Given the description of an element on the screen output the (x, y) to click on. 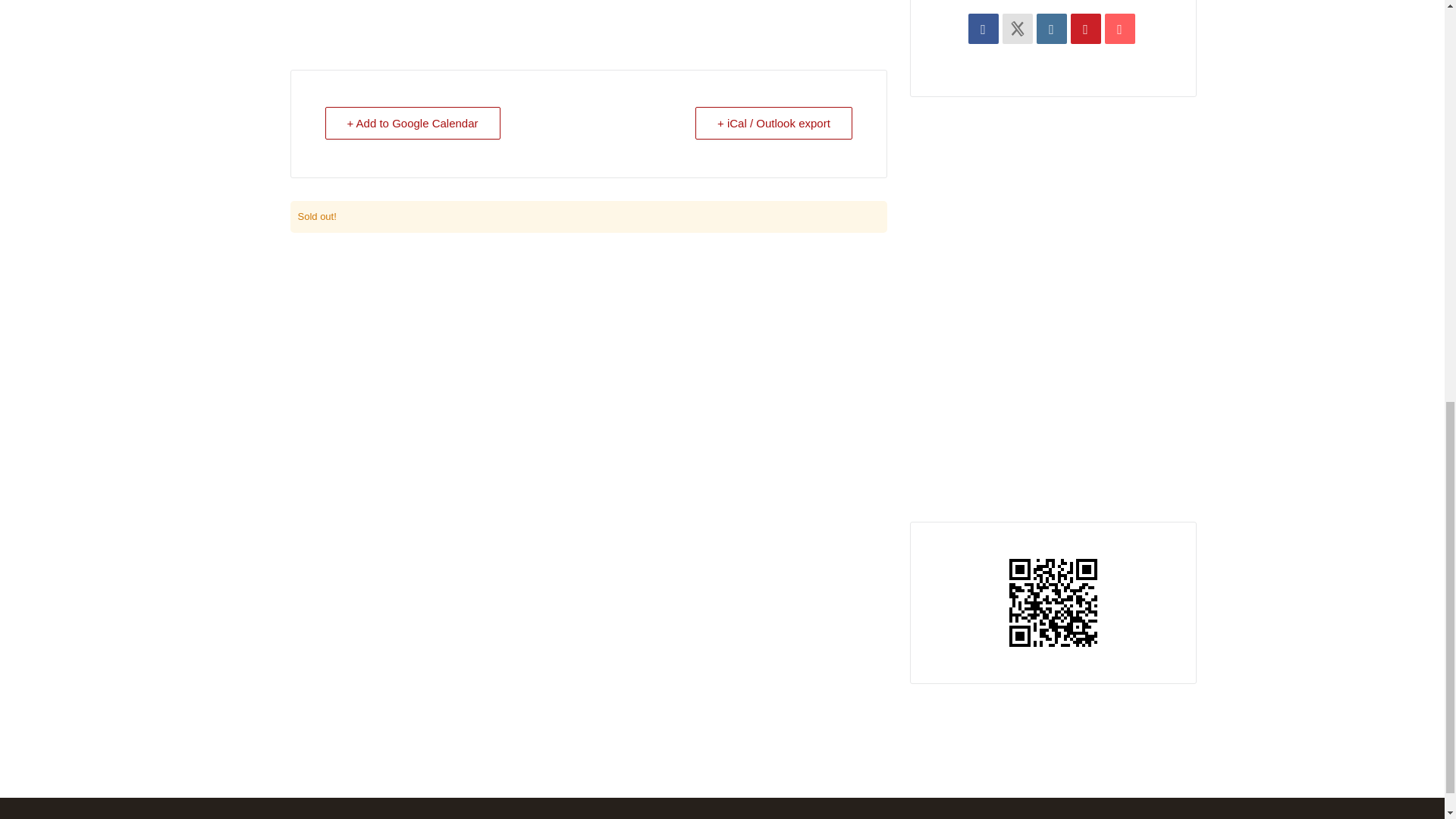
Share on Pinterest (1085, 28)
Share on Facebook (983, 28)
Linkedin (1051, 28)
Email (1120, 28)
X Social Network (1017, 28)
